Given the description of an element on the screen output the (x, y) to click on. 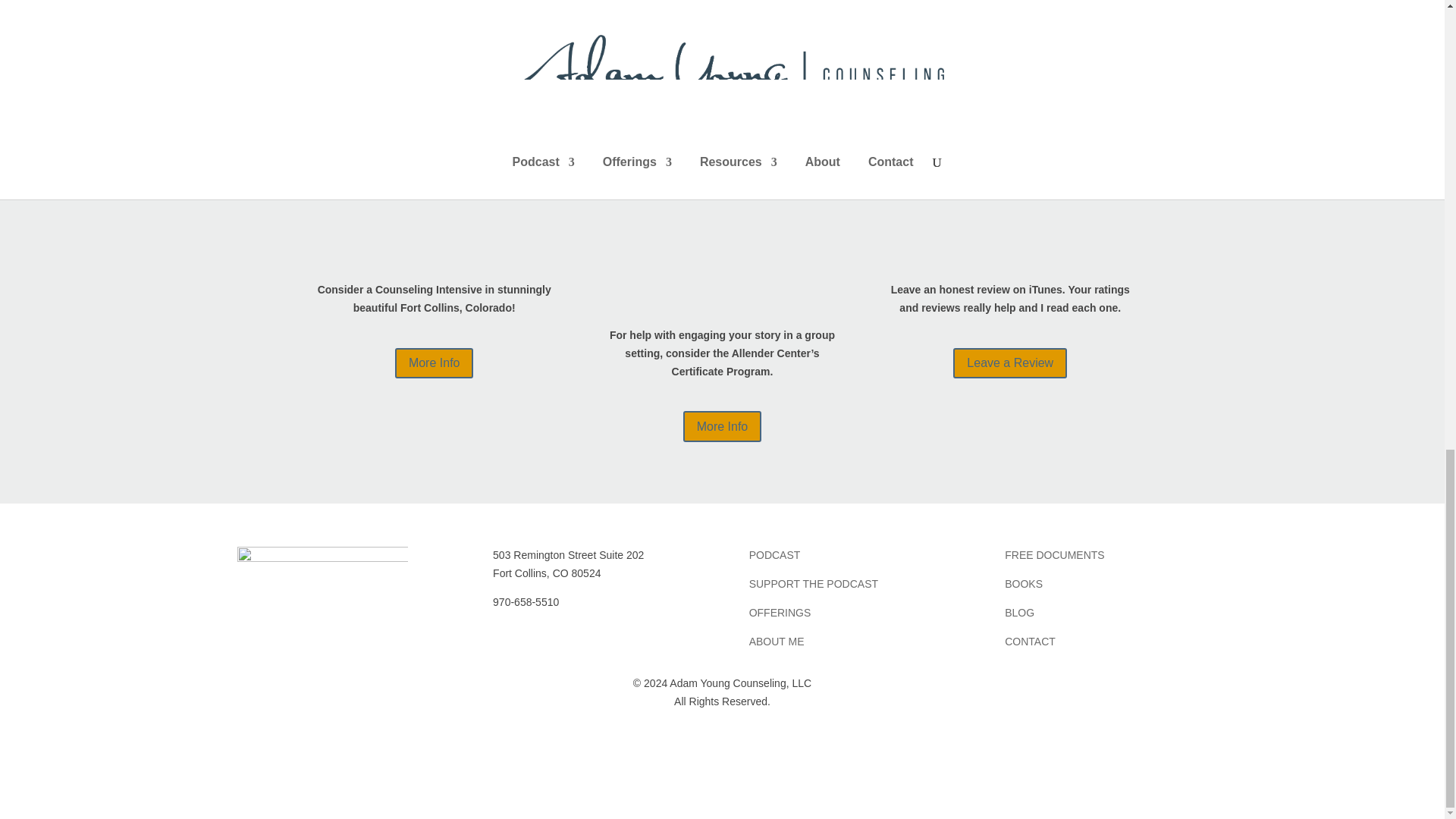
PODCAST (774, 554)
CONTACT (1029, 641)
BLOG (1018, 612)
SUPPORT THE PODCAST (813, 583)
More Info (434, 363)
Leave a Review (1010, 363)
OFFERINGS (779, 612)
More Info (721, 426)
ABOUT ME (777, 641)
BOOKS (1023, 583)
